Given the description of an element on the screen output the (x, y) to click on. 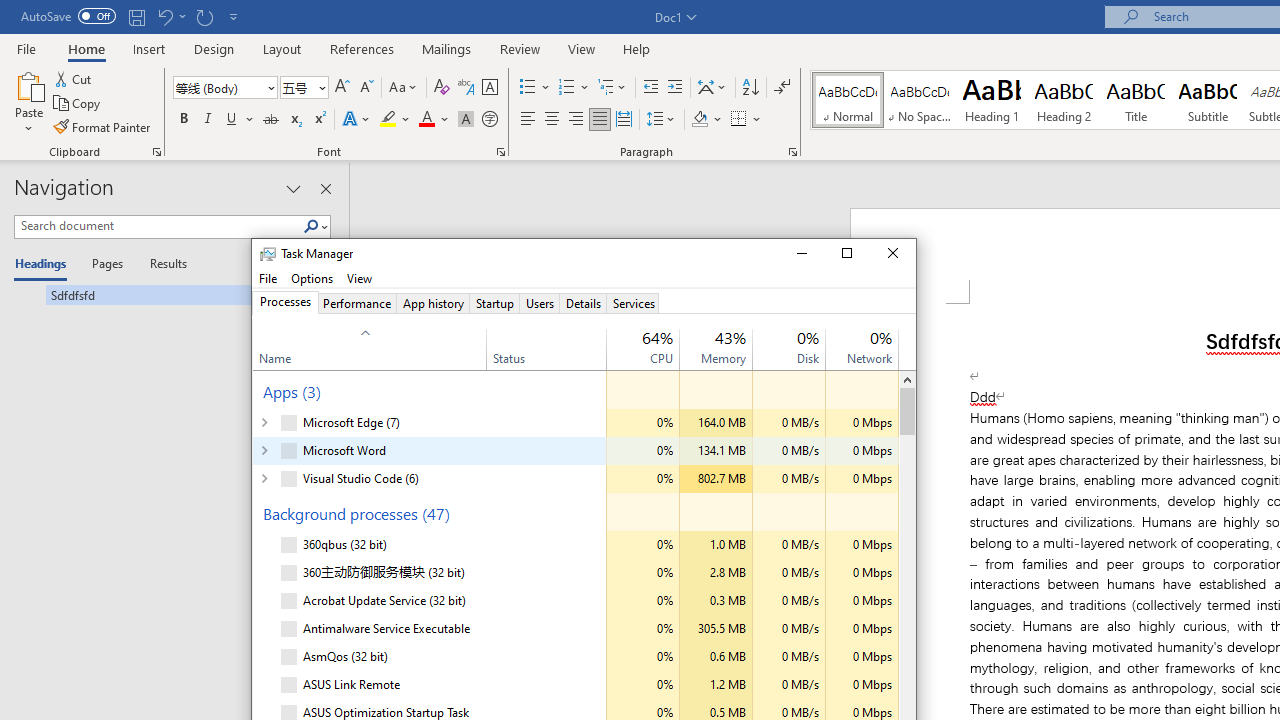
43% (729, 336)
Network (861, 685)
Options (312, 278)
Disk (788, 685)
